Given the description of an element on the screen output the (x, y) to click on. 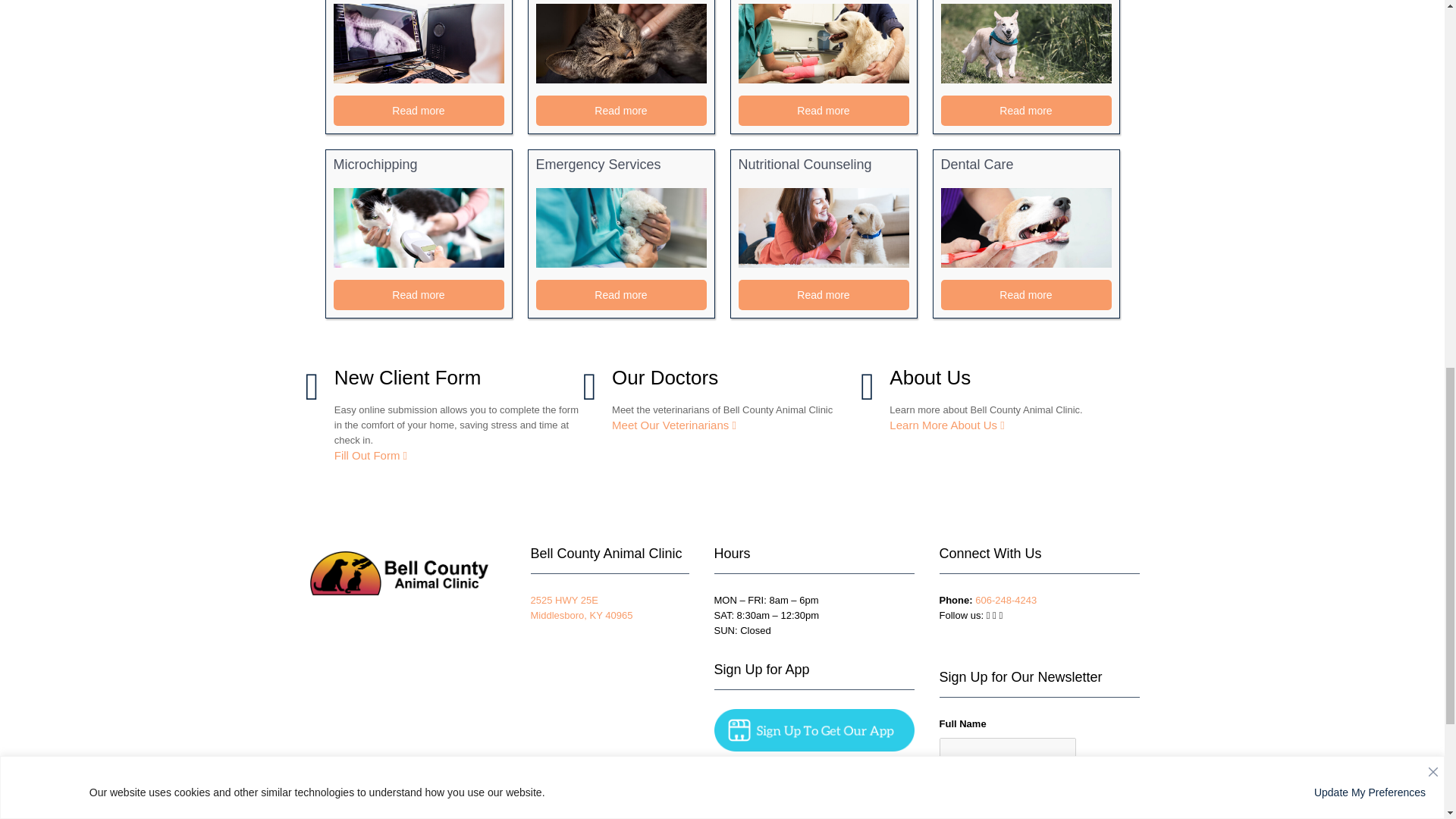
Emergency Services (620, 227)
Digital Radiography (418, 43)
Boarding (620, 43)
Surgery (823, 43)
Dental Care (1025, 227)
Laser Surgery (1025, 43)
Nutritional Counseling (823, 227)
Microchipping (418, 227)
